Given the description of an element on the screen output the (x, y) to click on. 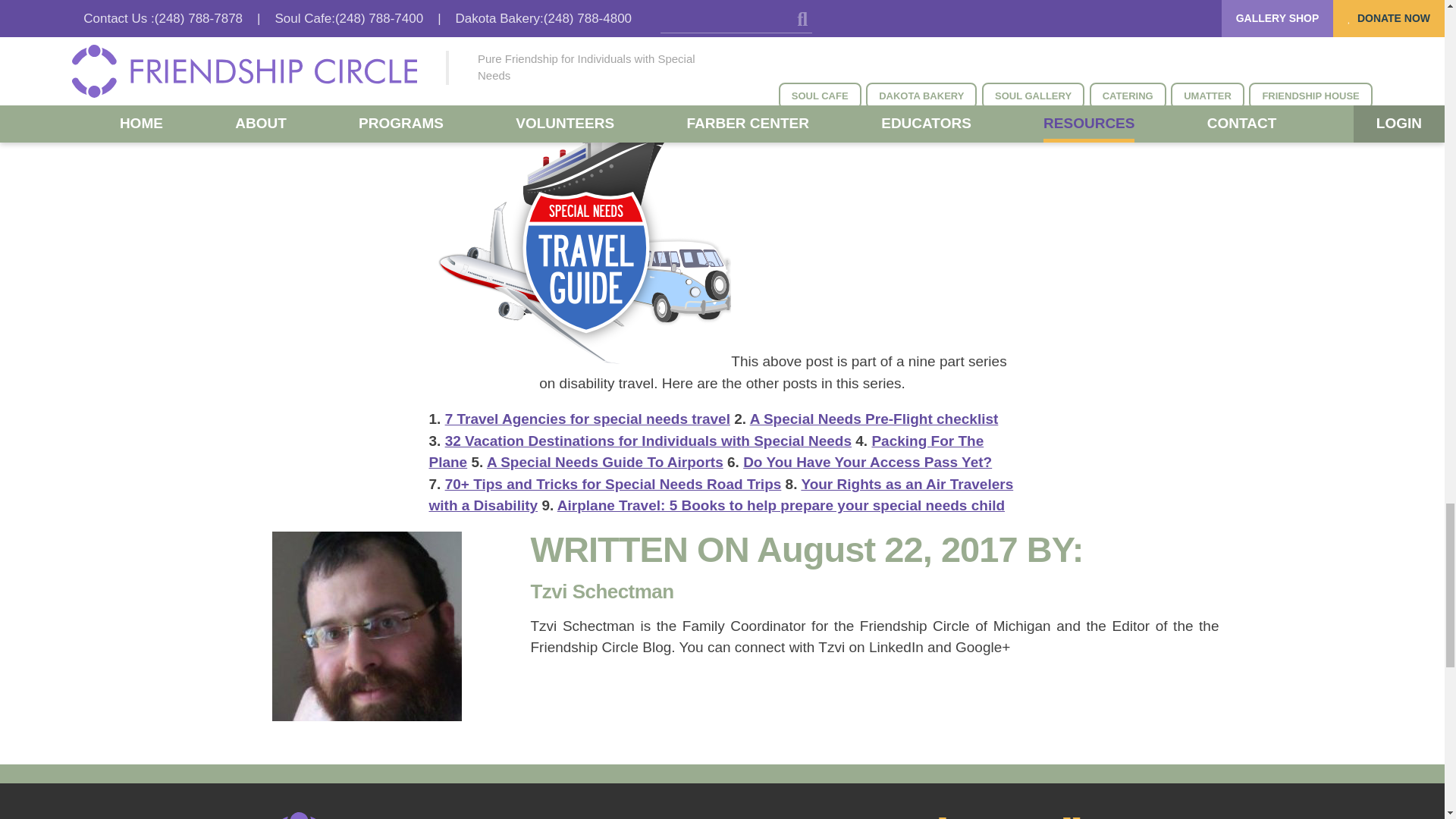
A Comprehensive Guide To Special Needs Travel (584, 236)
All Aboard Airplanes (467, 16)
All Aboard Airplanes (685, 4)
A Comprehensive Guide To Special Needs Travel (584, 360)
